Given the description of an element on the screen output the (x, y) to click on. 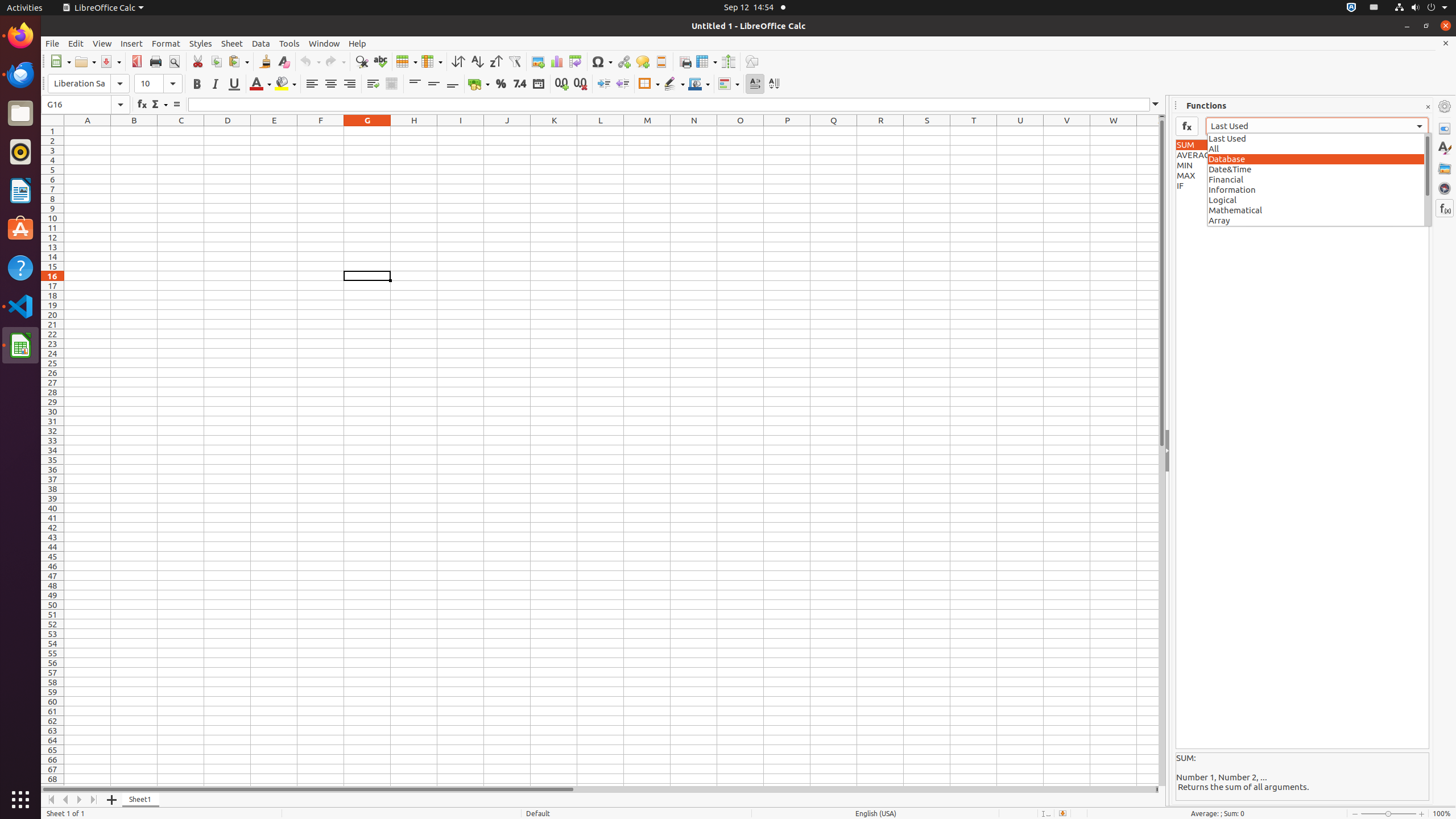
Spelling Element type: push-button (379, 61)
B1 Element type: table-cell (133, 130)
Select Function Element type: push-button (159, 104)
Align Center Element type: push-button (330, 83)
Logical Element type: list-item (1319, 199)
